Given the description of an element on the screen output the (x, y) to click on. 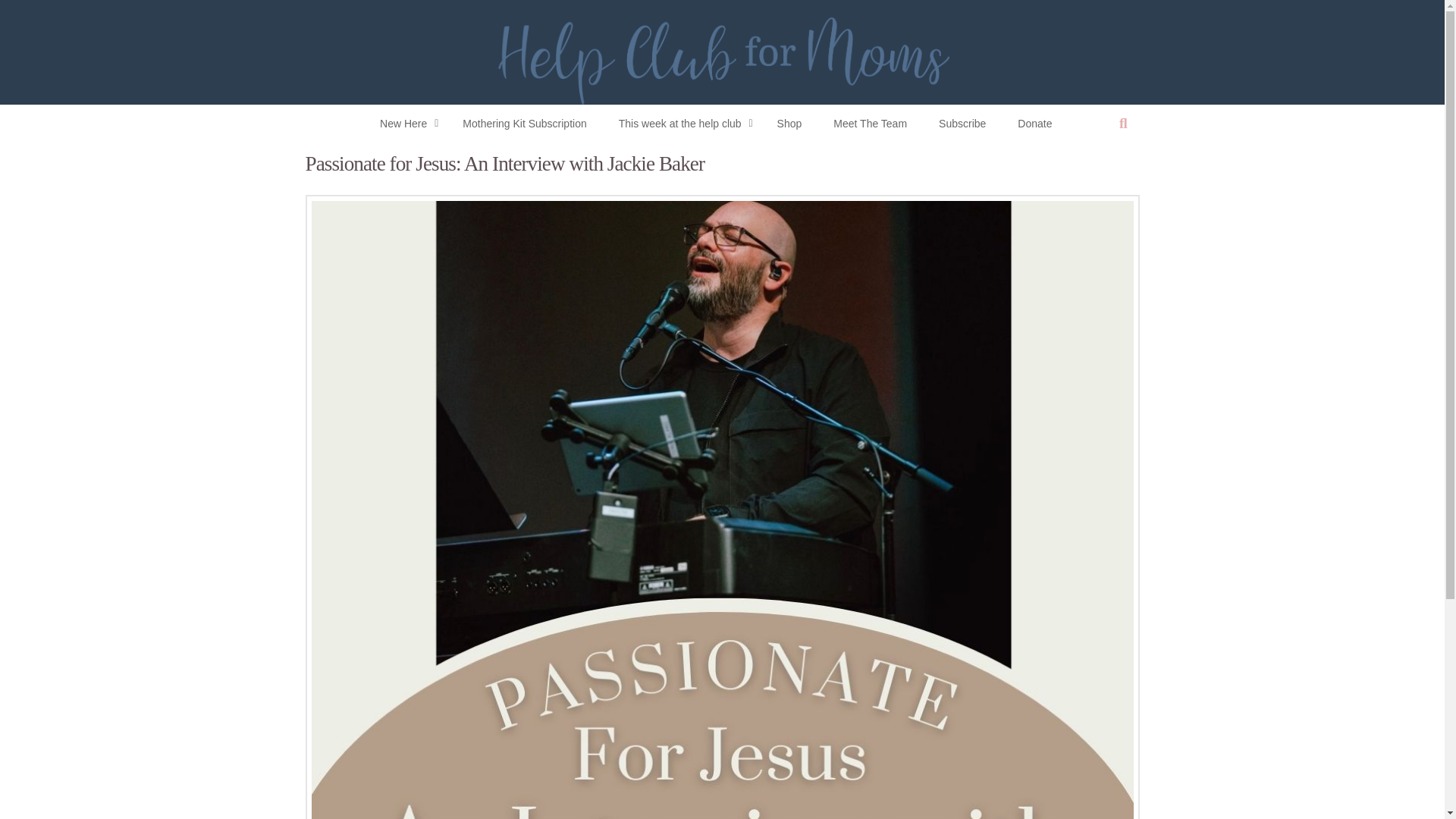
Donate (1035, 123)
Mothering Kit Subscription (523, 123)
This week at the help club (682, 123)
Shop (788, 123)
Subscribe (962, 123)
New Here (405, 123)
Meet The Team (869, 123)
